Given the description of an element on the screen output the (x, y) to click on. 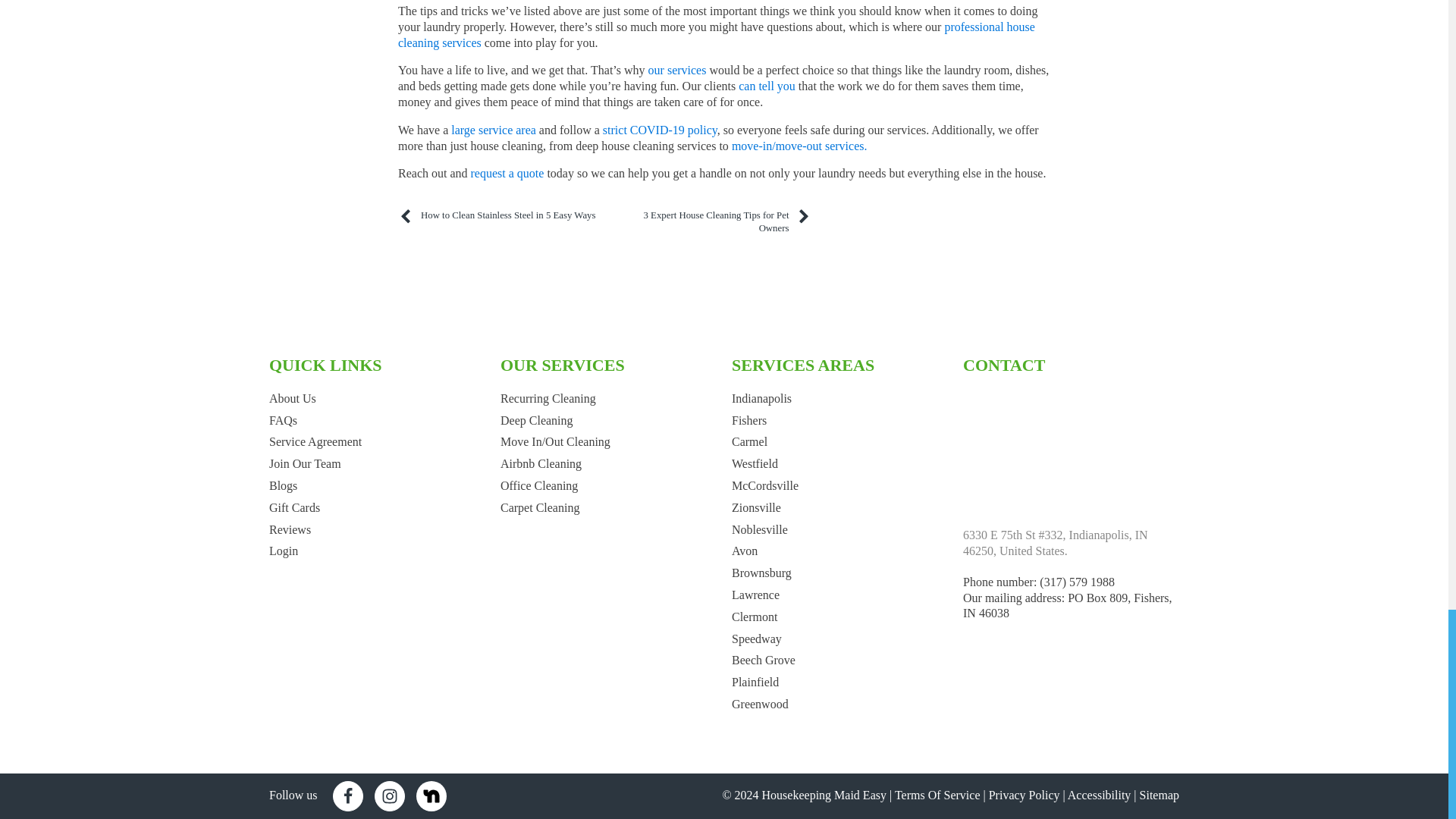
Login (283, 550)
our services (676, 69)
Office Cleaning (539, 485)
Fishers (749, 420)
Recurring Cleaning (547, 398)
Deep Cleaning (536, 420)
can tell you (766, 85)
FAQs (283, 420)
large service area (493, 129)
3 Expert House Cleaning Tips for Pet Owners (712, 221)
About Us (292, 398)
Join Our Team (304, 463)
Gift Cards (294, 507)
Carpet Cleaning (539, 507)
professional house cleaning services (716, 34)
